Given the description of an element on the screen output the (x, y) to click on. 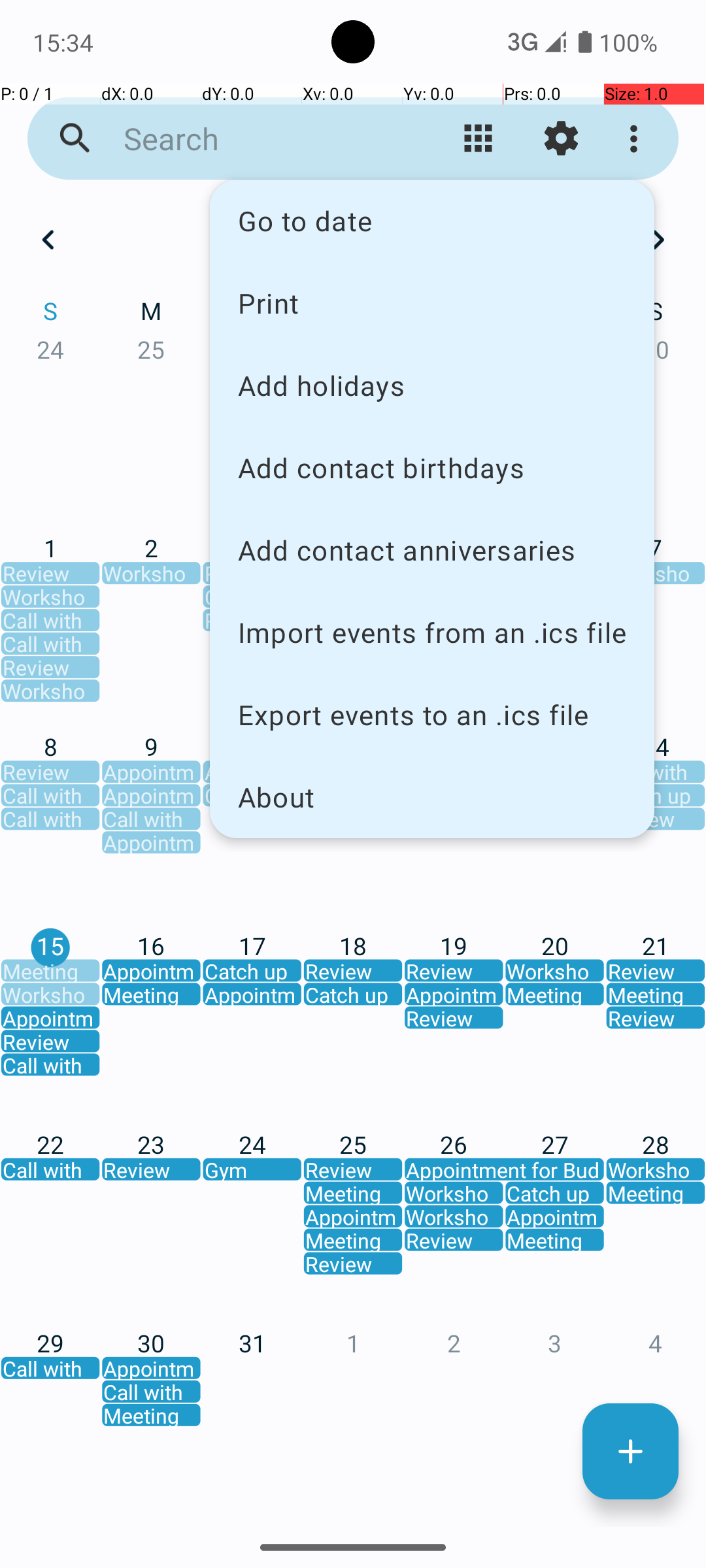
Go to date Element type: android.widget.TextView (431, 220)
Print Element type: android.widget.TextView (431, 302)
Add holidays Element type: android.widget.TextView (431, 384)
Add contact birthdays Element type: android.widget.TextView (431, 467)
Add contact anniversaries Element type: android.widget.TextView (431, 549)
Import events from an .ics file Element type: android.widget.TextView (431, 631)
Export events to an .ics file Element type: android.widget.TextView (431, 714)
